Given the description of an element on the screen output the (x, y) to click on. 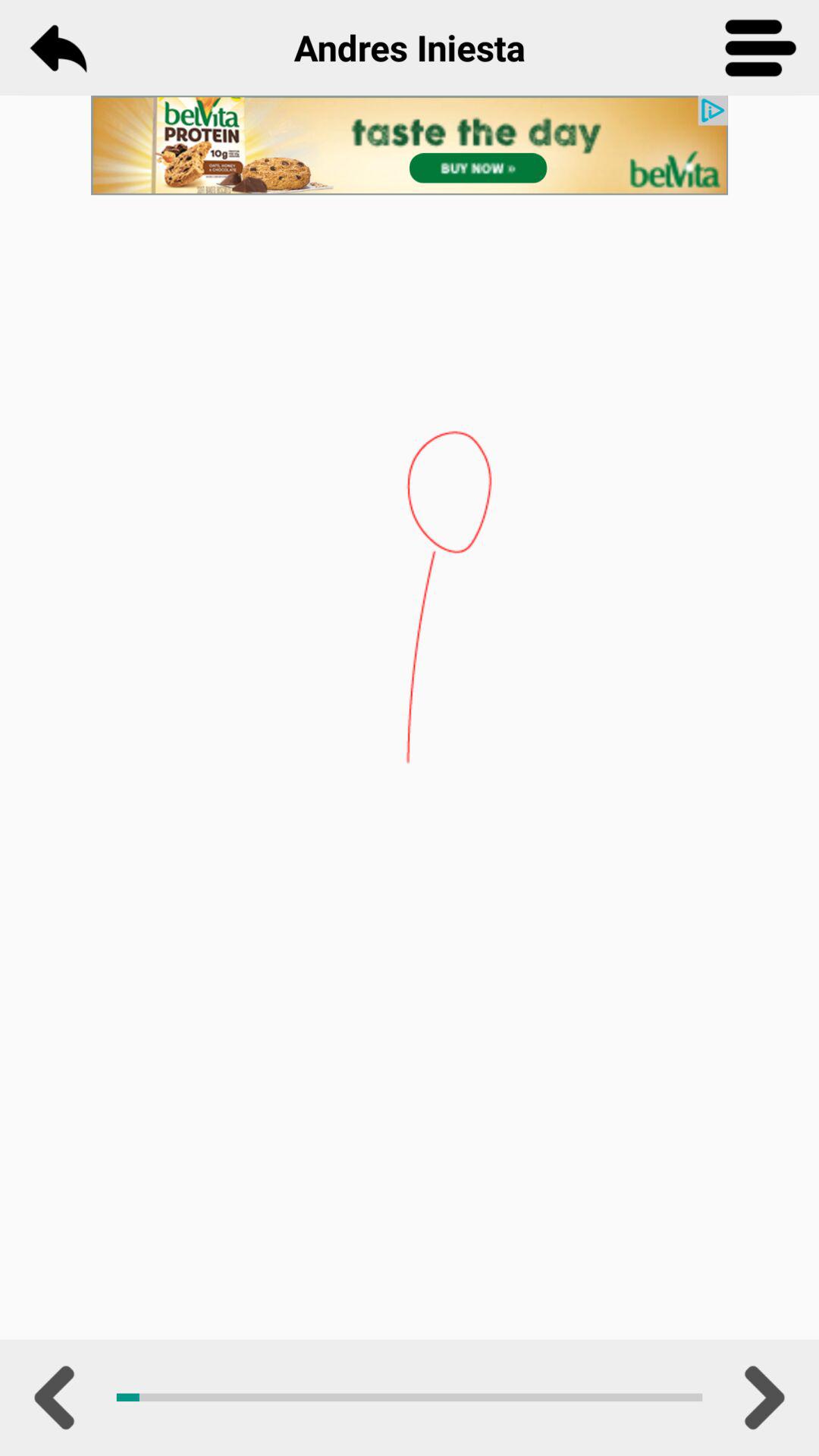
advertisement (409, 145)
